Given the description of an element on the screen output the (x, y) to click on. 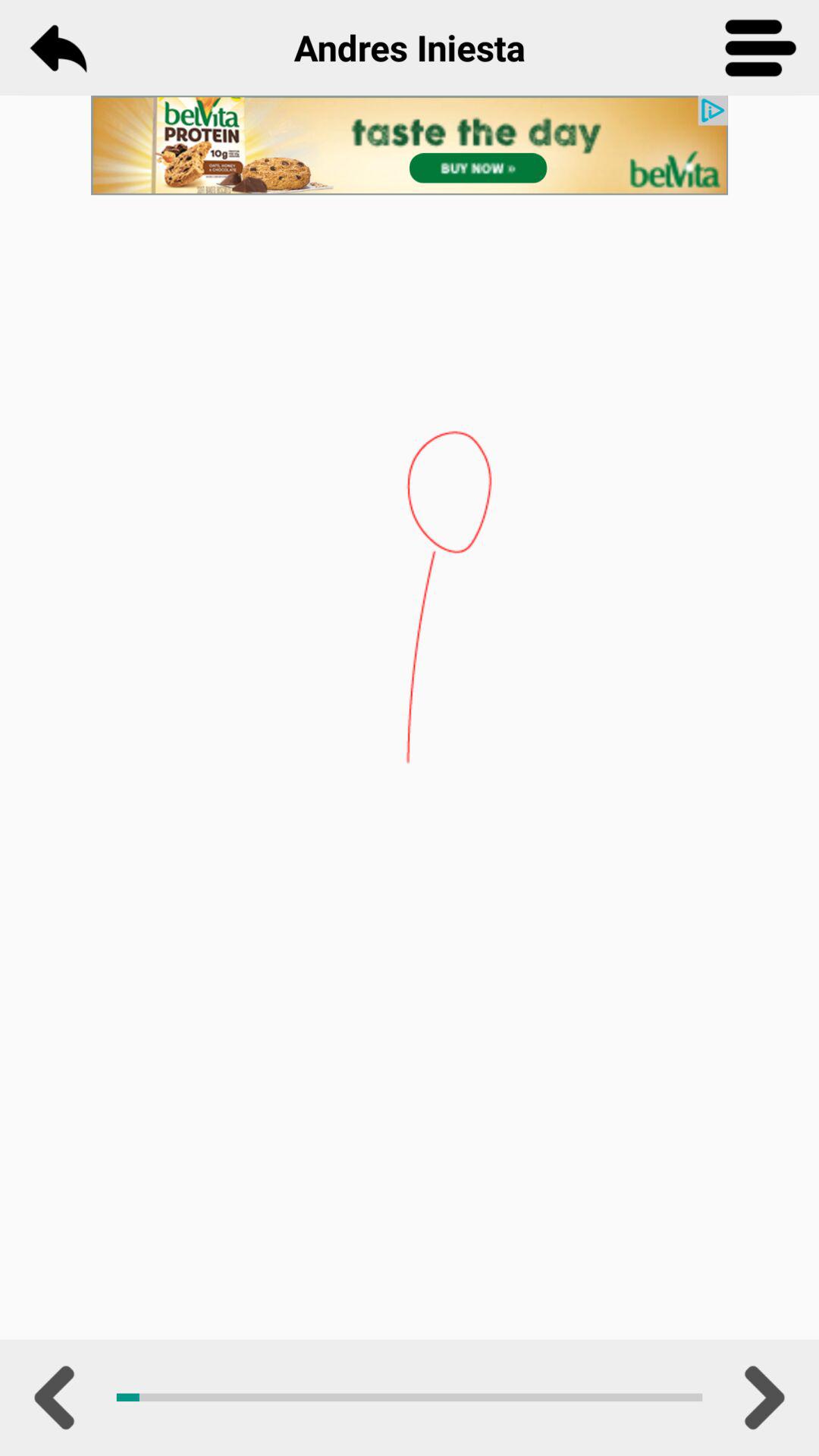
advertisement (409, 145)
